Given the description of an element on the screen output the (x, y) to click on. 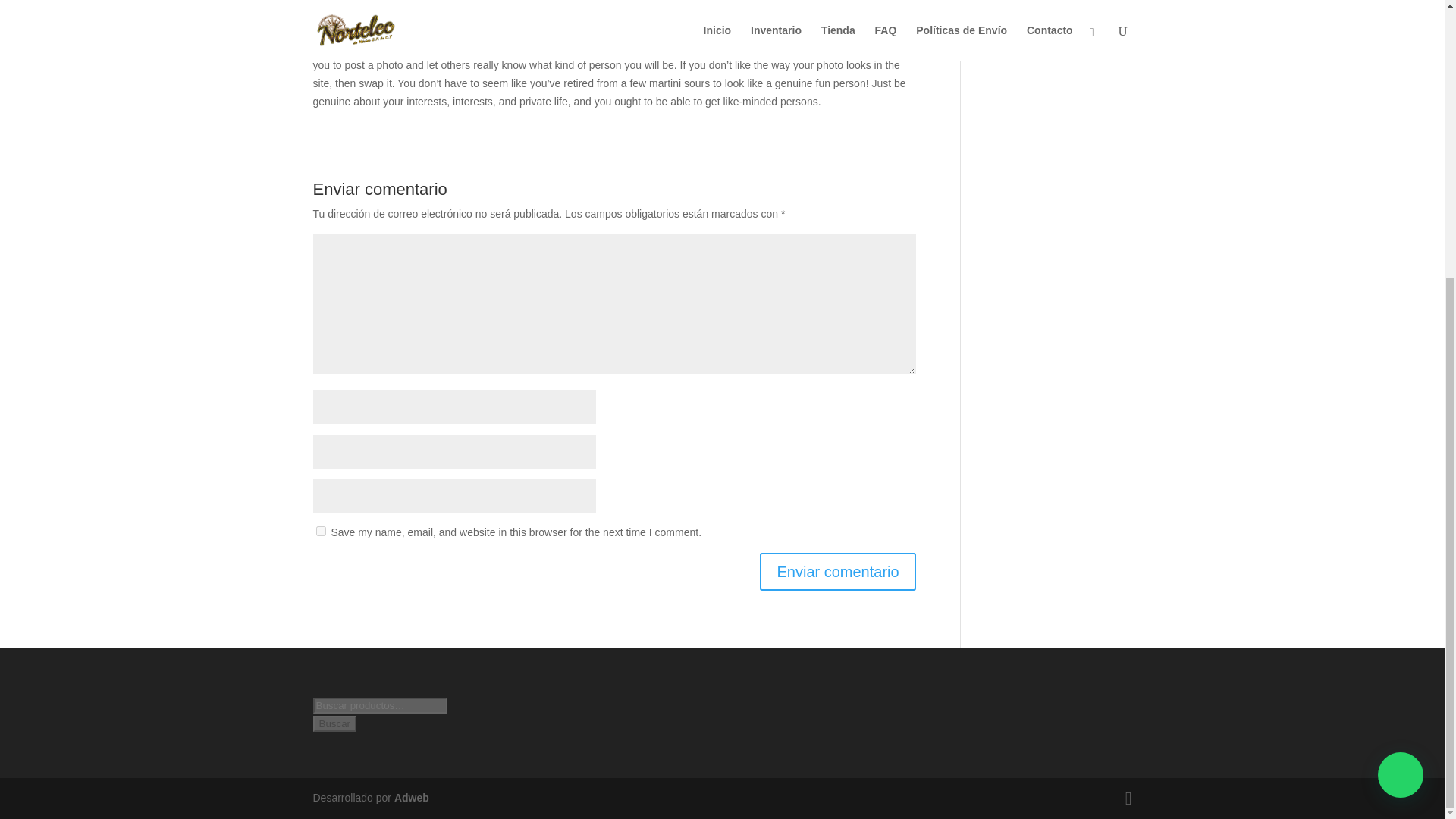
Enviar comentario (837, 571)
yes (319, 531)
Buscar (334, 723)
Buscar (334, 723)
Buscar por: (379, 705)
Enviar comentario (837, 571)
Adweb (411, 797)
